Given the description of an element on the screen output the (x, y) to click on. 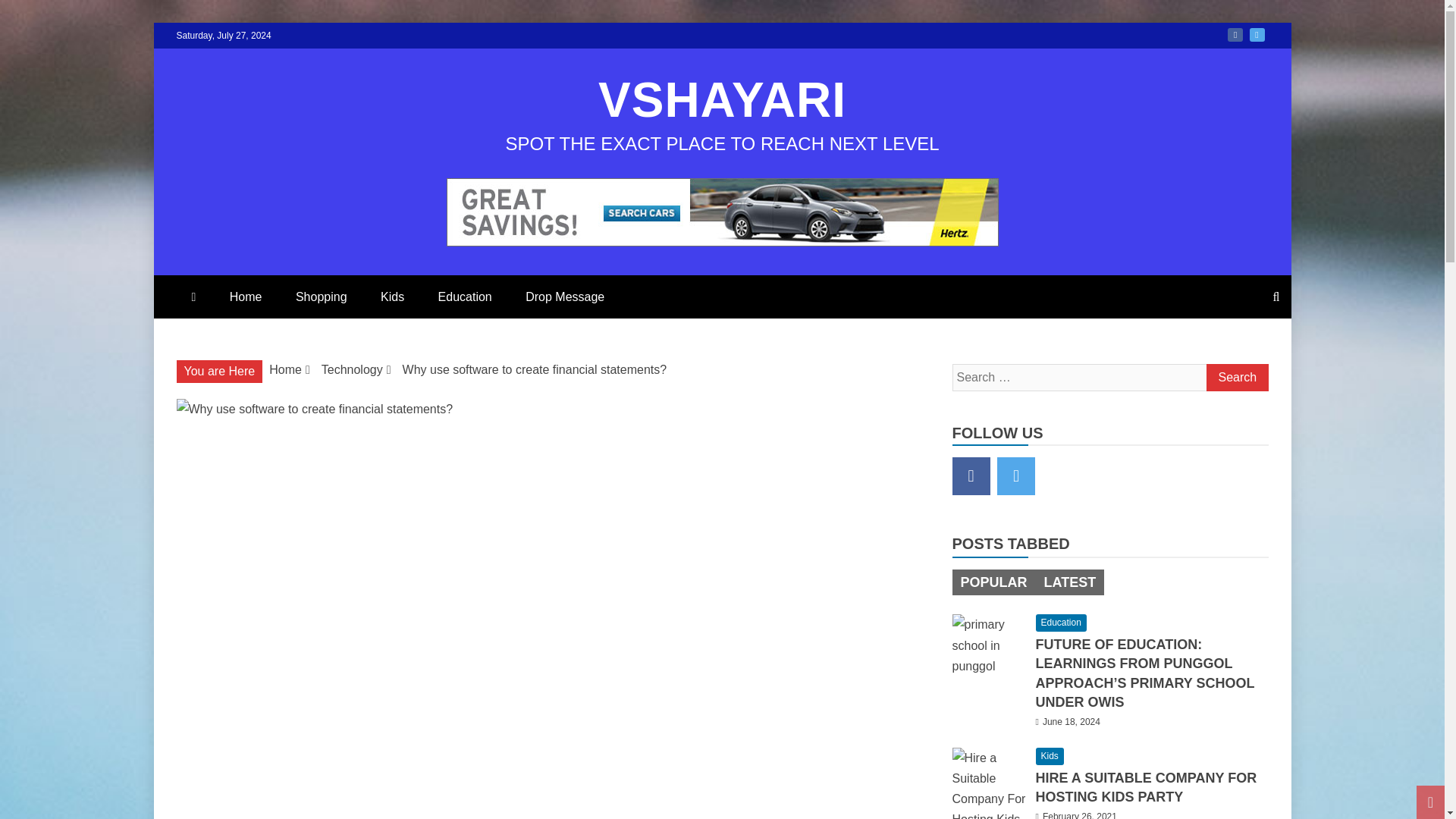
twitter (1016, 476)
Search (1236, 377)
Technology (351, 369)
Drop Message (565, 296)
Search (1236, 377)
Home (246, 296)
facebook (1235, 34)
twitter (1257, 34)
Search (1236, 377)
Shopping (321, 296)
Kids (392, 296)
Education (464, 296)
facebook (971, 476)
VSHAYARI (721, 99)
